Given the description of an element on the screen output the (x, y) to click on. 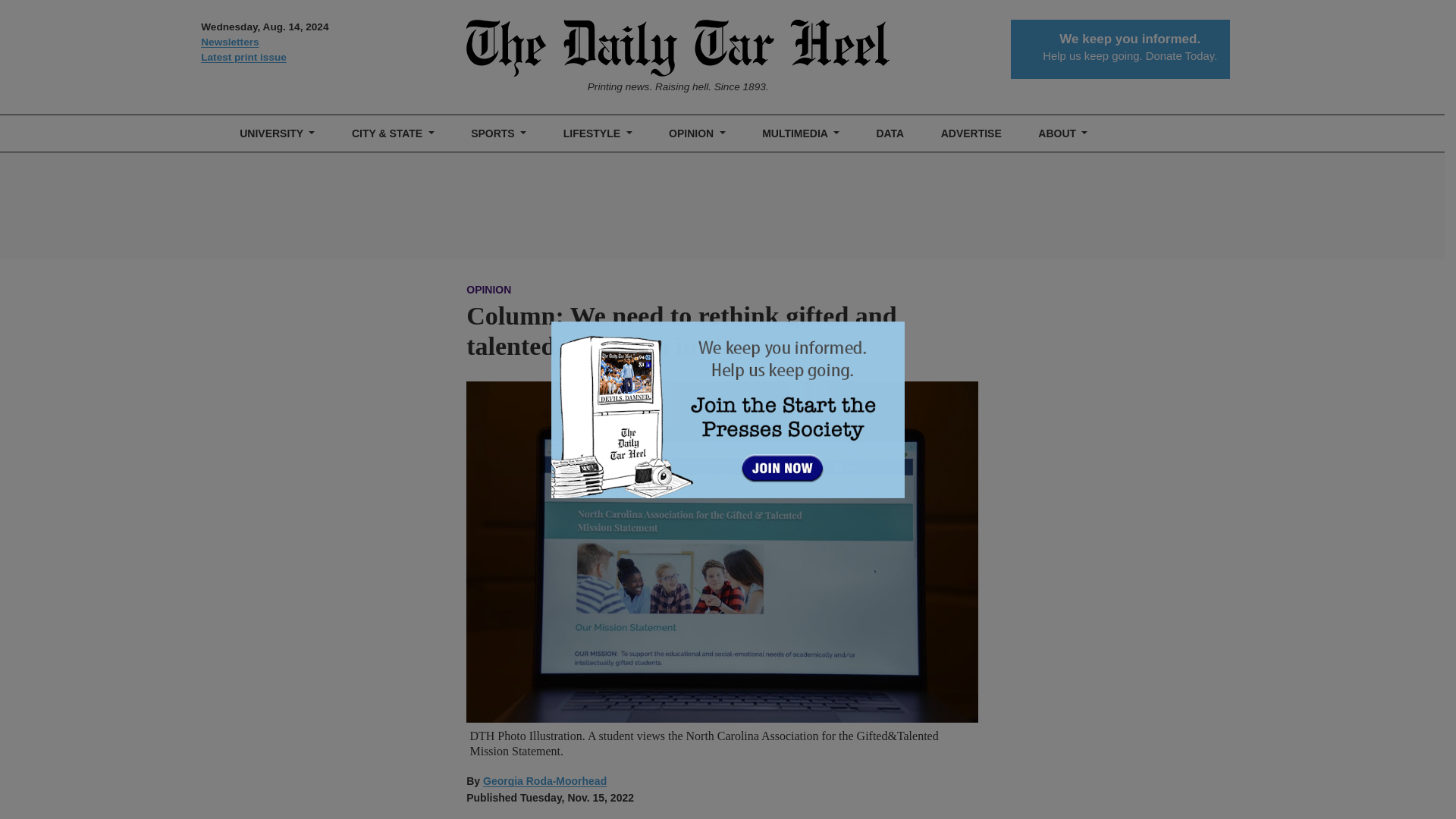
OPINION (697, 132)
Newsletters (323, 42)
Data (890, 132)
UNIVERSITY (276, 132)
We keep you informed. (1129, 38)
Advertise (970, 132)
Latest print issue (323, 57)
SPORTS (498, 132)
LIFESTYLE (597, 132)
